Given the description of an element on the screen output the (x, y) to click on. 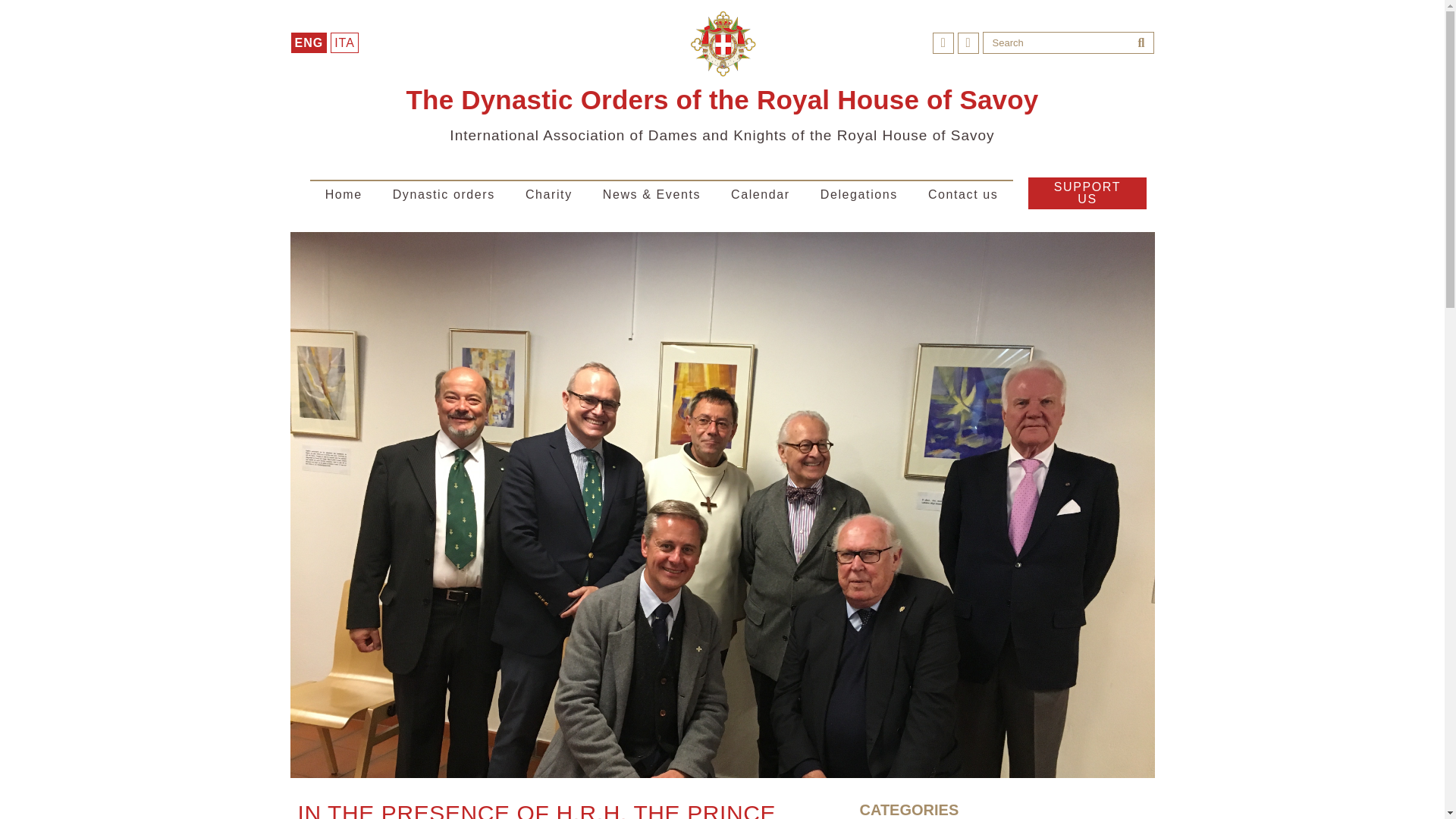
Calendar (760, 193)
Charity (549, 193)
ENG (309, 42)
Contact us (962, 193)
Home (343, 193)
Dynastic orders (444, 193)
ITA (344, 42)
Delegations (858, 193)
SUPPORT US (1086, 193)
